Given the description of an element on the screen output the (x, y) to click on. 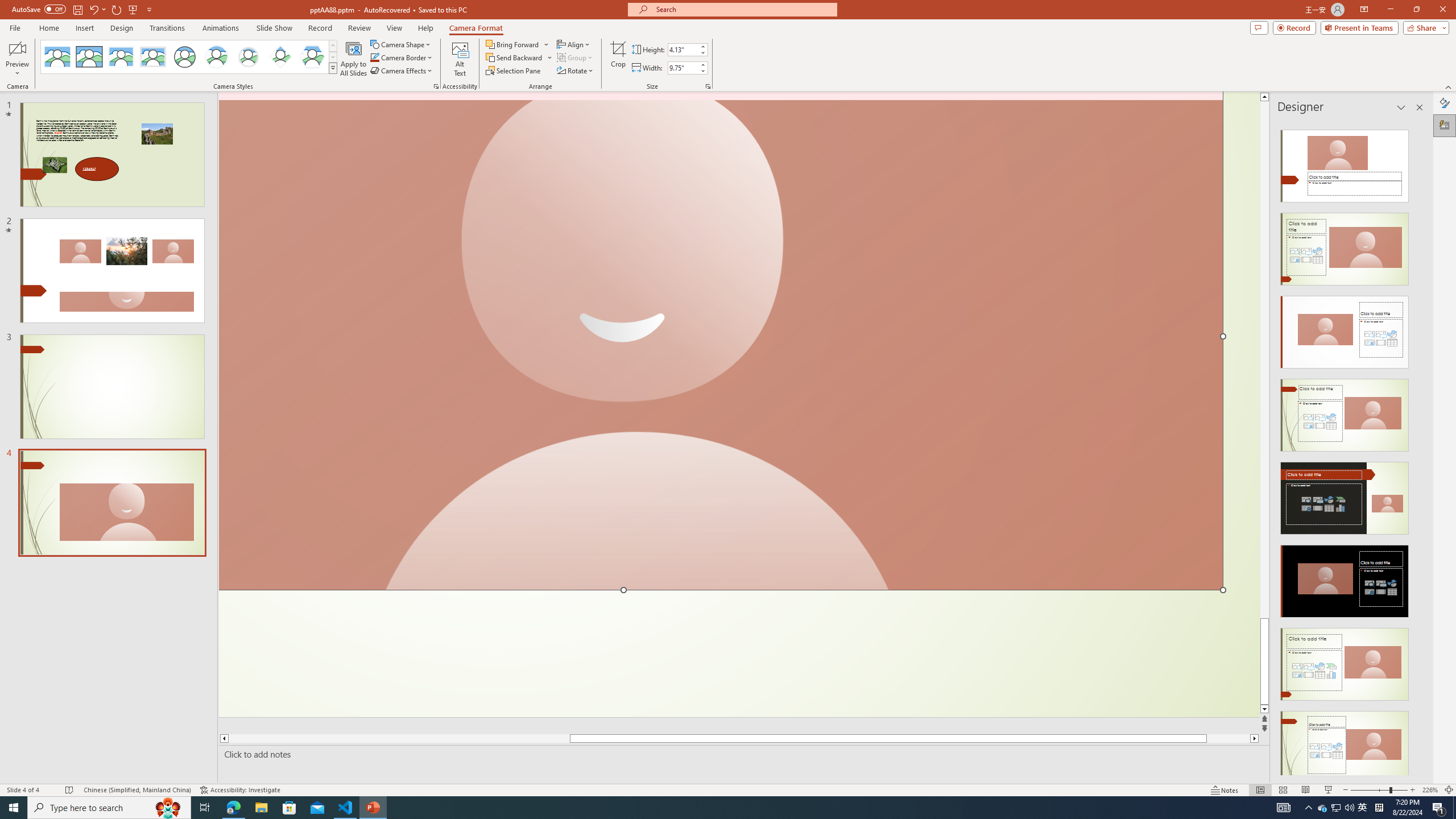
Cameo Width (682, 67)
Camera Effects (402, 69)
Bring Forward (513, 44)
Send Backward (518, 56)
